Given the description of an element on the screen output the (x, y) to click on. 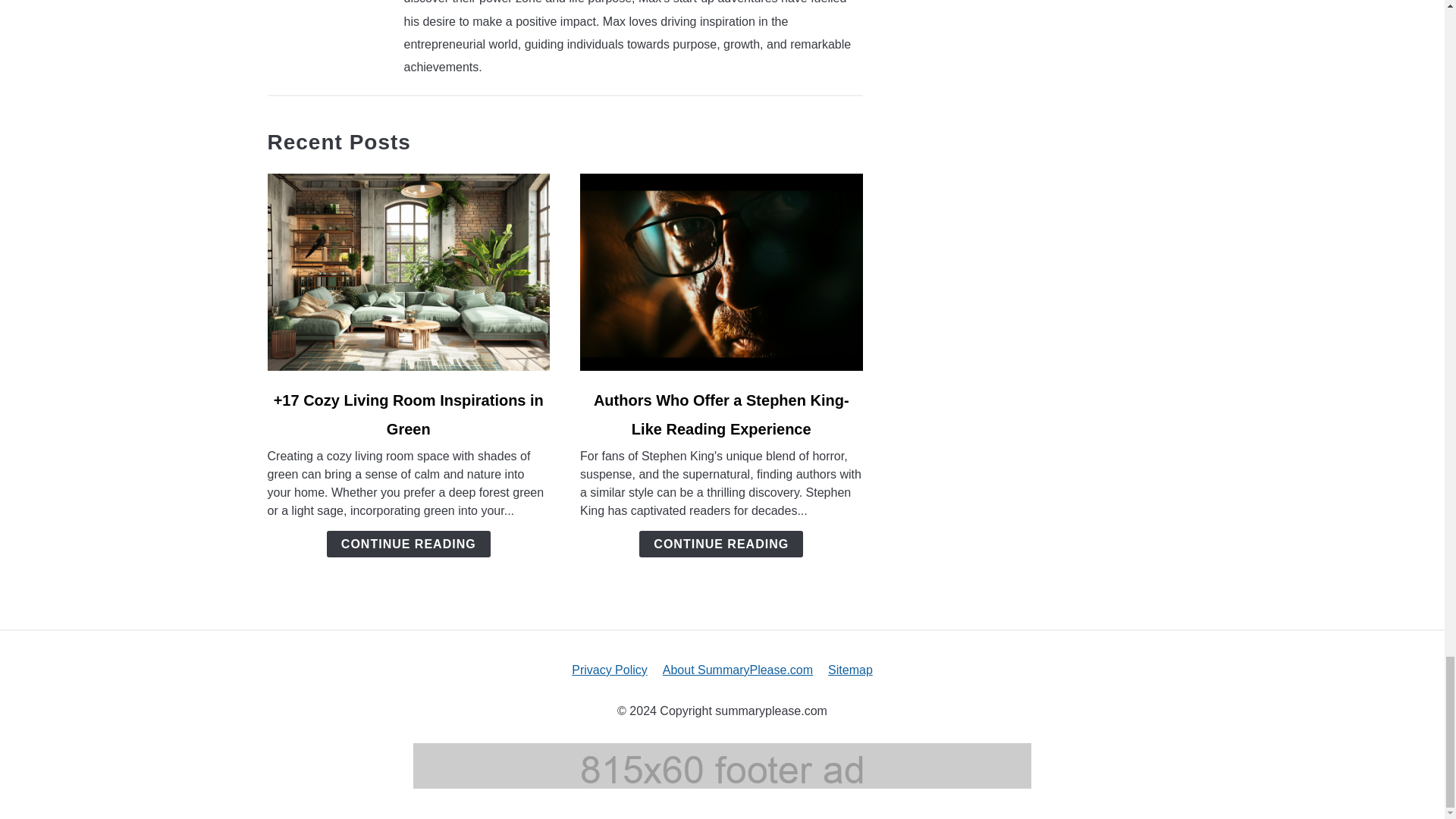
Sitemap (850, 669)
Authors Who Offer a Stephen King-Like Reading Experience (721, 414)
About SummaryPlease.com (737, 669)
CONTINUE READING (721, 543)
CONTINUE READING (408, 543)
Privacy Policy (609, 669)
